Given the description of an element on the screen output the (x, y) to click on. 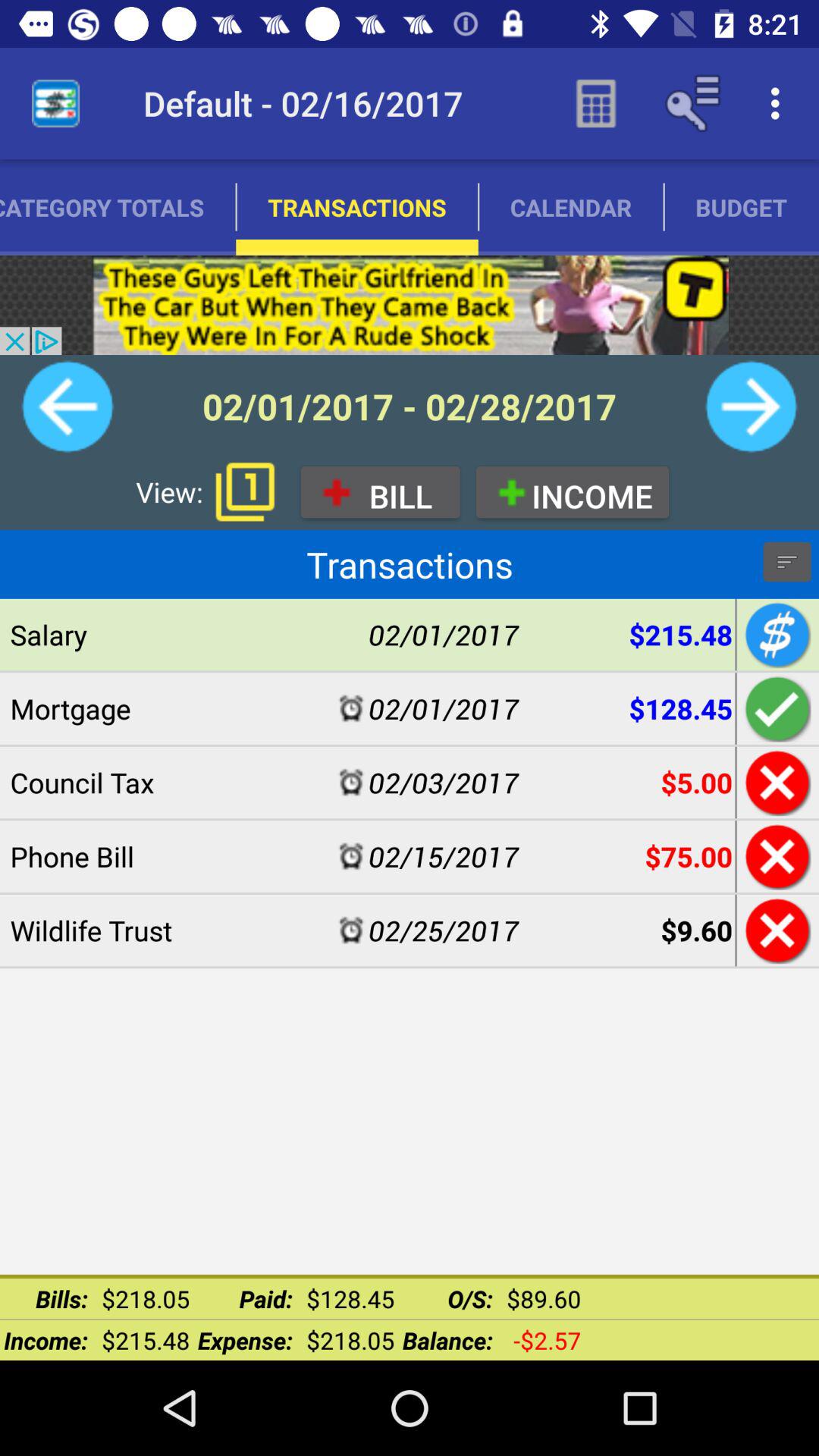
options list (787, 561)
